Given the description of an element on the screen output the (x, y) to click on. 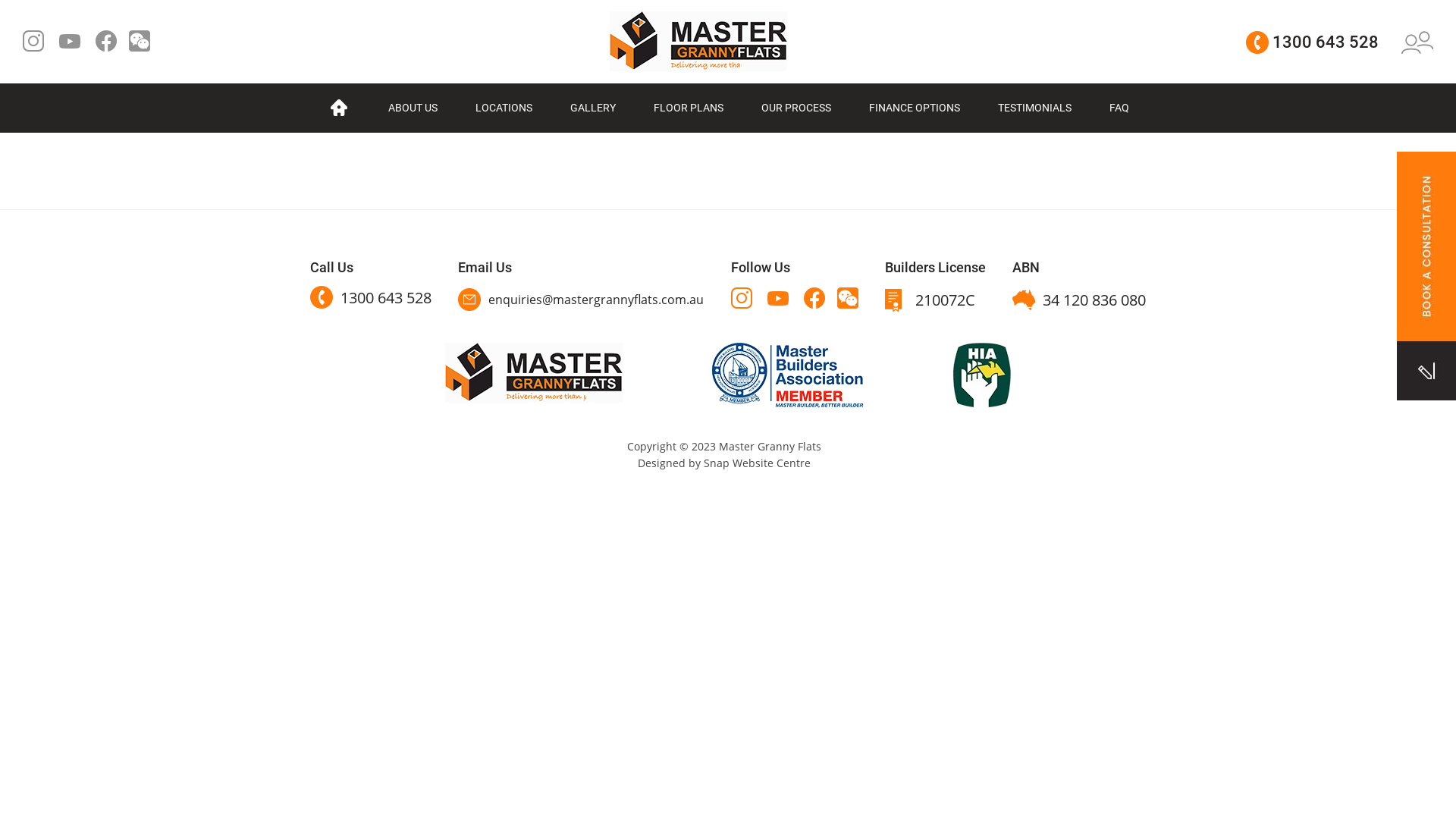
FINANCE OPTIONS Element type: text (913, 107)
Master Builders Association Element type: hover (787, 373)
Wechat Element type: hover (139, 40)
1300 643 528 Element type: text (1311, 42)
Wechat Element type: hover (847, 297)
ABOUT US Element type: text (411, 107)
Master Granny Flats Element type: hover (533, 370)
OUR PROCESS Element type: text (795, 107)
facebook Element type: text (105, 40)
enquiries@mastergrannyflats.com.au Element type: text (580, 299)
Master Granny Flats Element type: hover (698, 39)
Snap Website Centre Element type: text (756, 462)
HIA Insurance Services Element type: hover (981, 372)
youtube Element type: text (69, 40)
HOME Element type: text (338, 107)
1300 643 528 Element type: text (370, 297)
TESTIMONIALS Element type: text (1033, 107)
instagram Element type: text (741, 297)
FAQ Element type: text (1118, 107)
youtube Element type: text (777, 297)
facebook Element type: text (814, 297)
instagram Element type: text (32, 40)
GALLERY Element type: text (591, 107)
FLOOR PLANS Element type: text (687, 107)
LOCATIONS Element type: text (503, 107)
Login here Element type: hover (1417, 42)
